Given the description of an element on the screen output the (x, y) to click on. 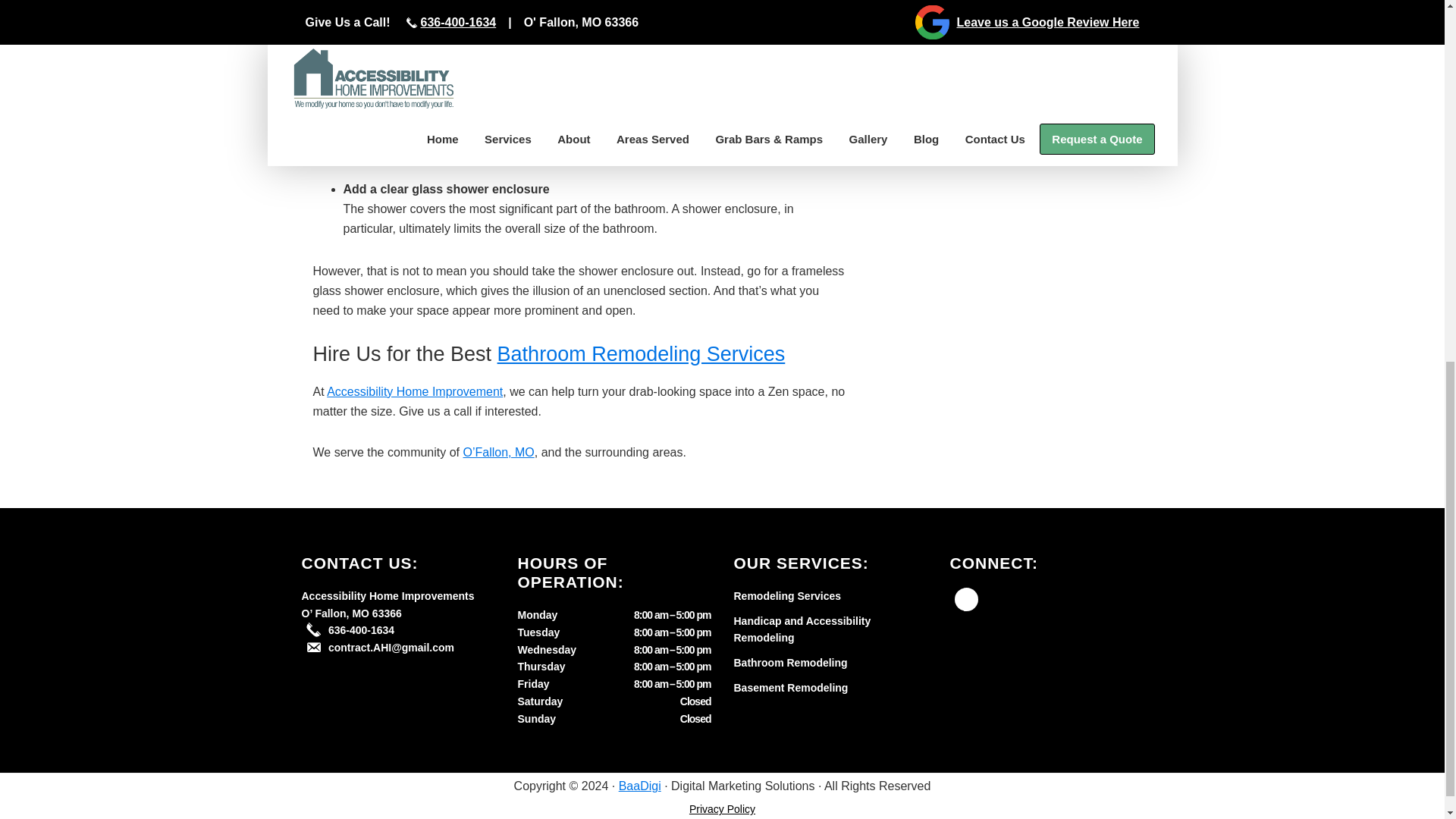
Send Message (940, 77)
Accessibility Home Improvement (414, 391)
Bathroom Remodeling Services (641, 354)
